Given the description of an element on the screen output the (x, y) to click on. 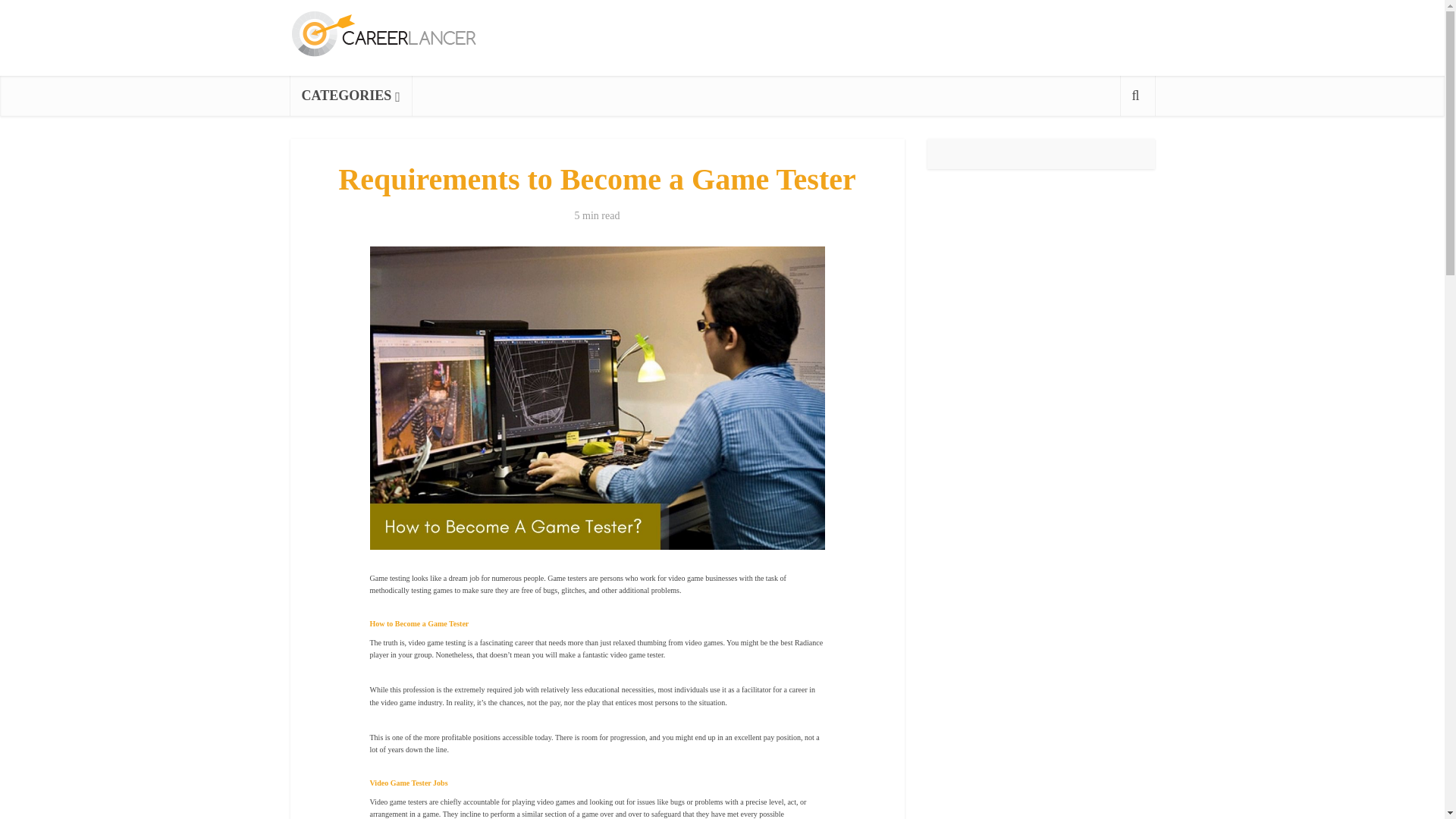
CATEGORIES (349, 96)
